Given the description of an element on the screen output the (x, y) to click on. 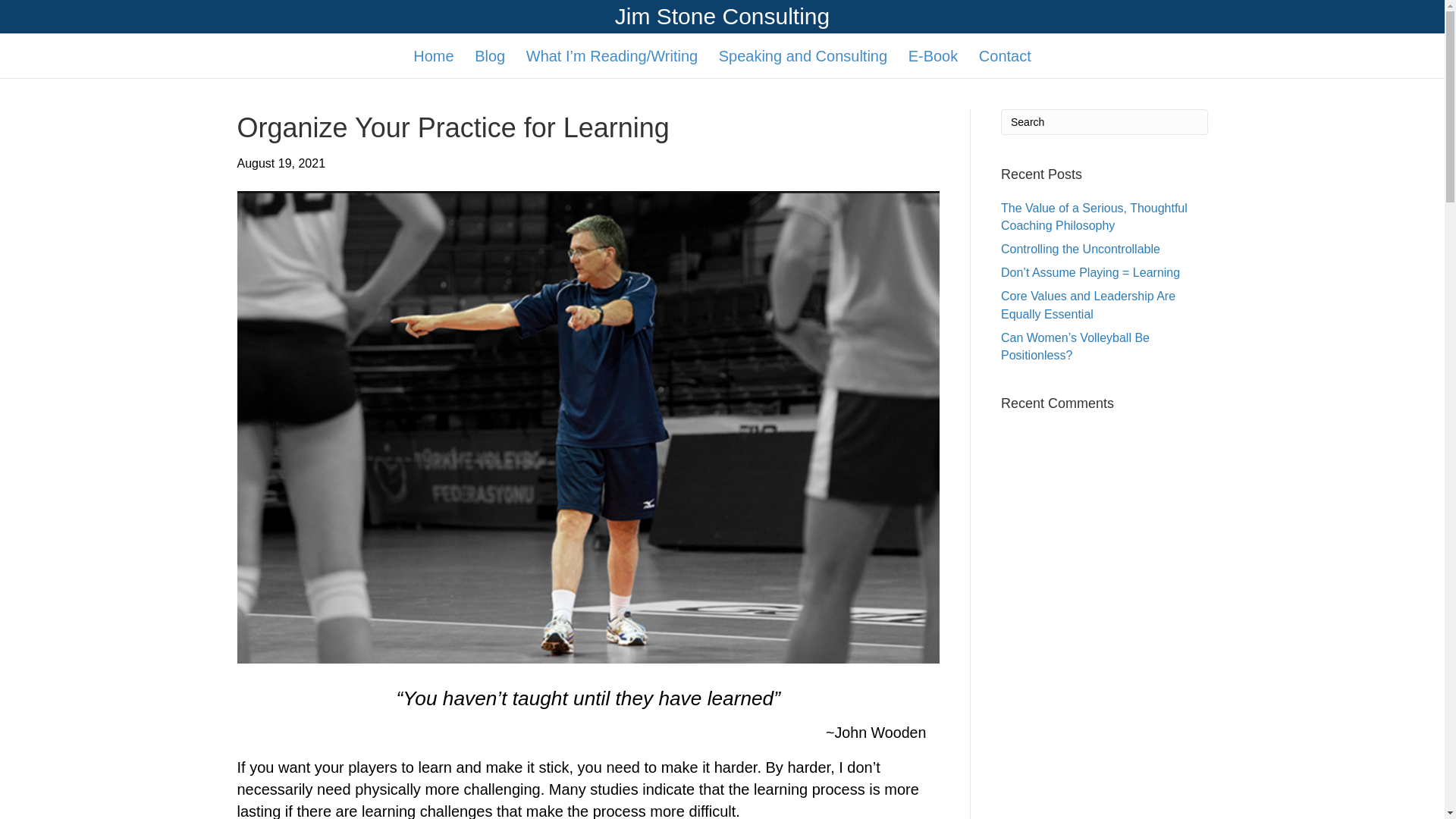
Contact (1005, 54)
Controlling the Uncontrollable (1080, 248)
Core Values and Leadership Are Equally Essential (1087, 304)
Blog (392, 538)
Blog (489, 54)
E-Book (932, 54)
Type and press Enter to search. (1104, 121)
Jim Stone Consulting (721, 16)
Access the Book (439, 656)
E-Book (400, 608)
Contact (401, 683)
Home (396, 513)
My account (425, 630)
Home (432, 54)
Speaking and Consulting (447, 585)
